Given the description of an element on the screen output the (x, y) to click on. 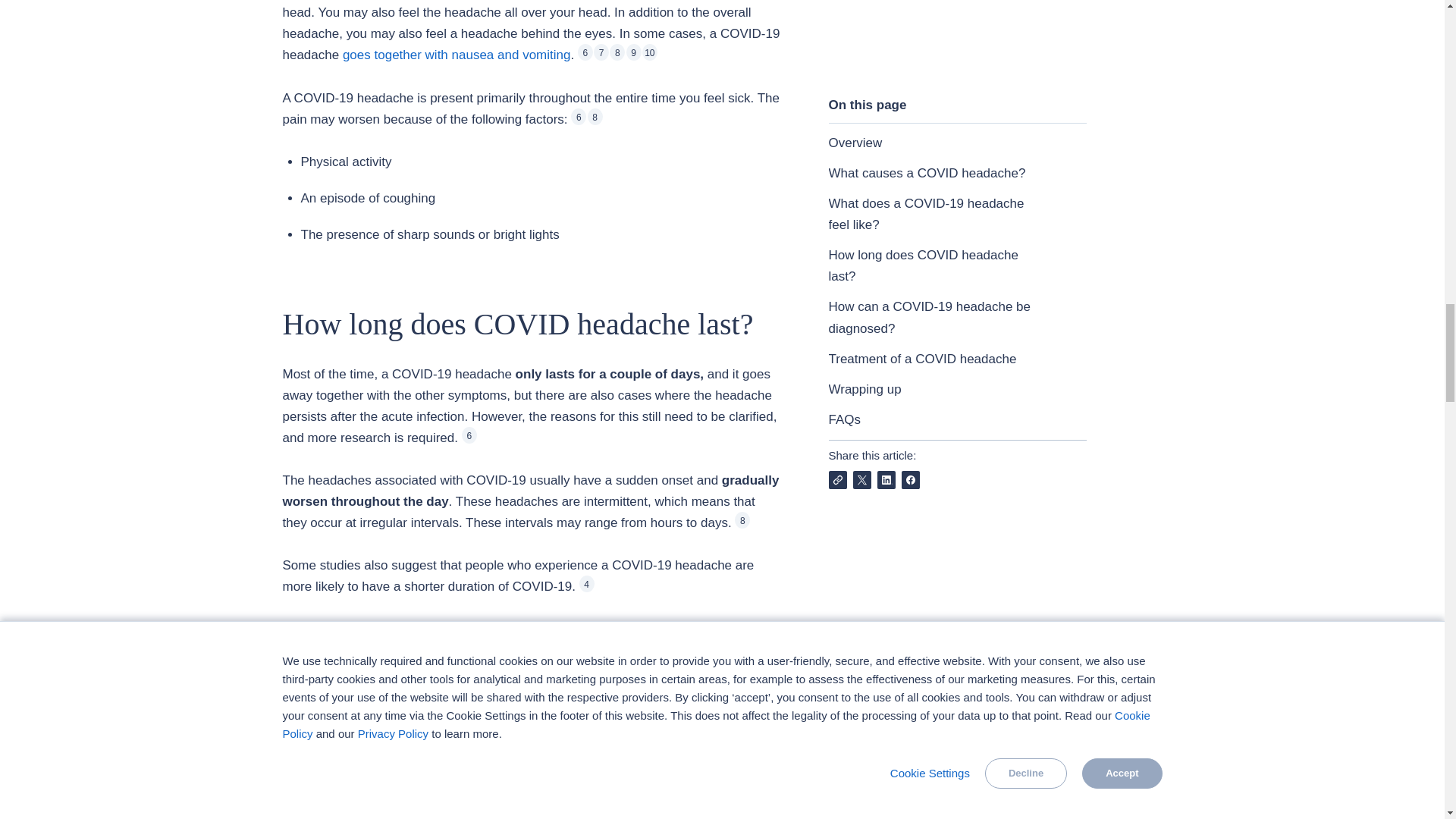
See Footnote 7 (601, 52)
See Footnote 8 (617, 52)
See Footnote 9 (634, 52)
See Footnote 10 (650, 52)
See Footnote 6 (585, 52)
See Footnote 6 (578, 116)
